Given the description of an element on the screen output the (x, y) to click on. 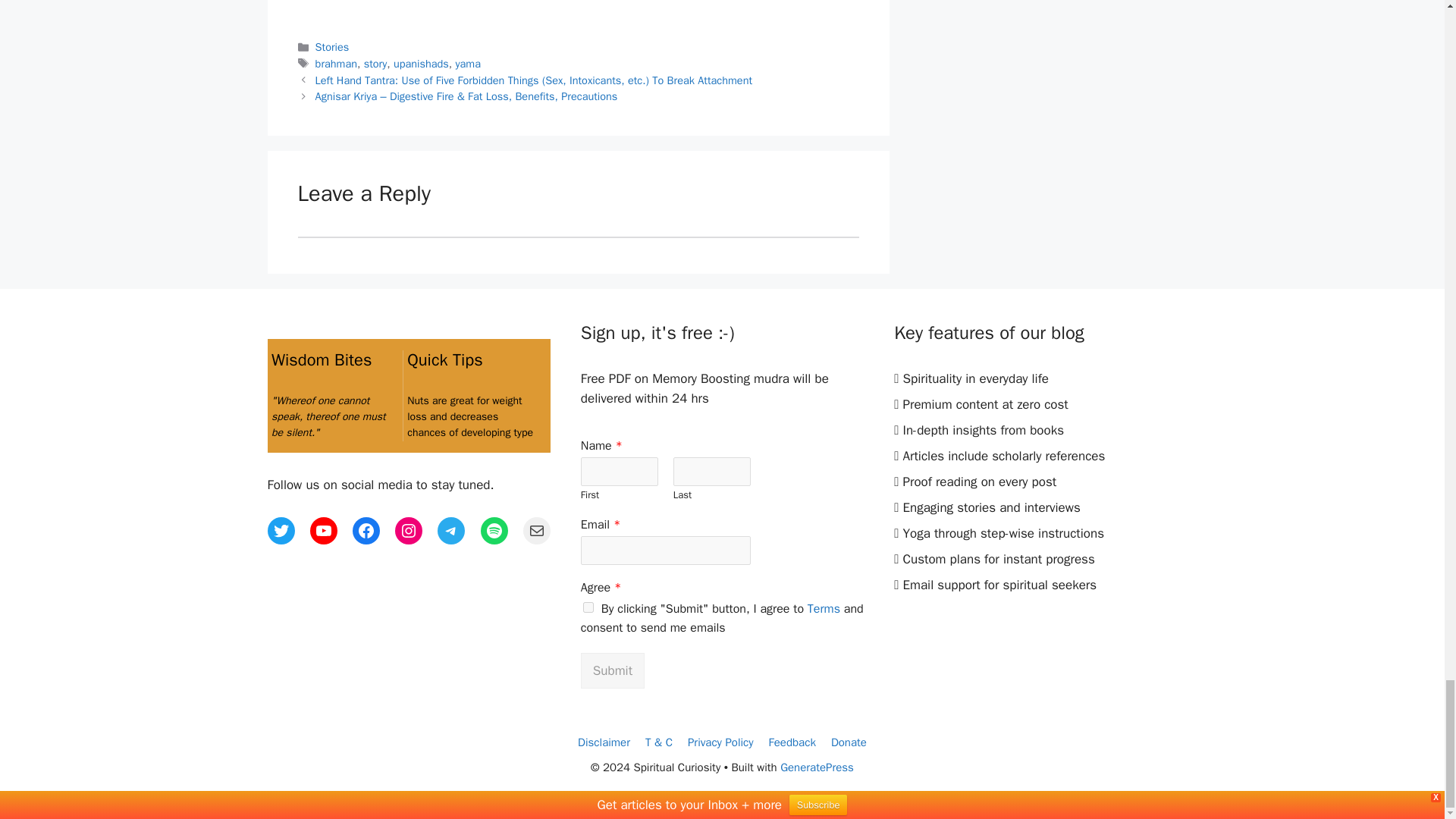
Stories (332, 47)
upanishads (420, 63)
brahman (335, 63)
story (375, 63)
yama (467, 63)
